Given the description of an element on the screen output the (x, y) to click on. 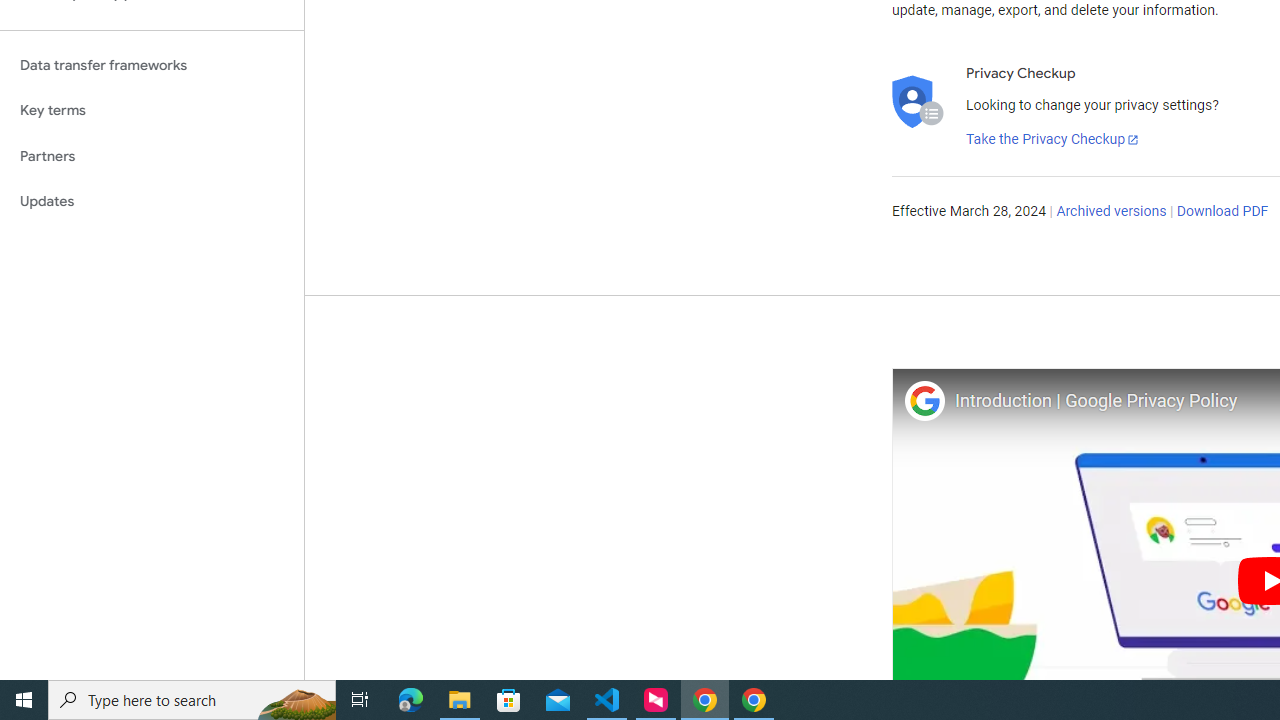
Photo image of Google (924, 400)
Take the Privacy Checkup (1053, 140)
